Given the description of an element on the screen output the (x, y) to click on. 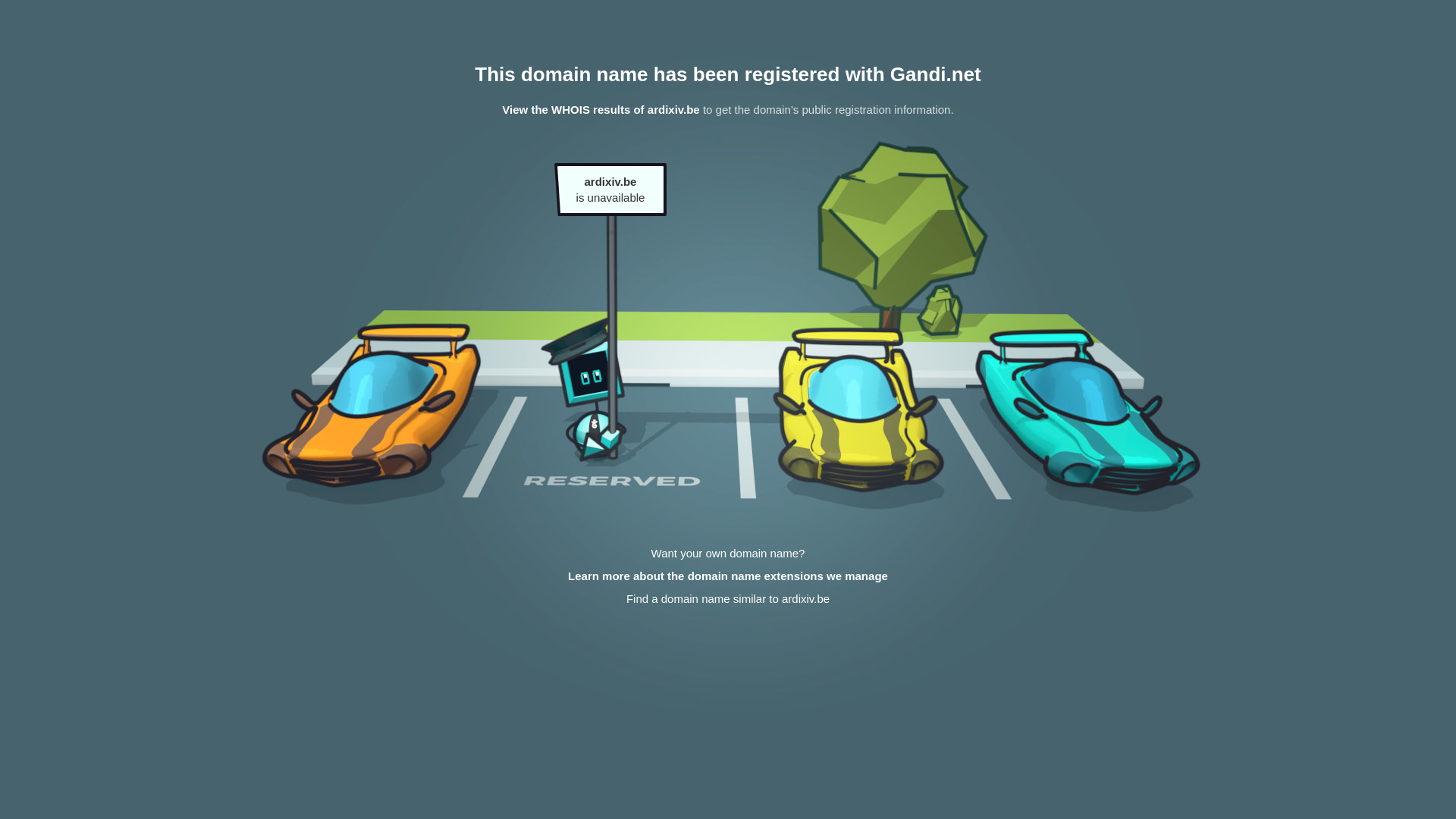
Learn more about the domain name extensions we manage Element type: text (727, 575)
Find a domain name similar to ardixiv.be Element type: text (727, 598)
View the WHOIS results of ardixiv.be Element type: text (600, 109)
